Given the description of an element on the screen output the (x, y) to click on. 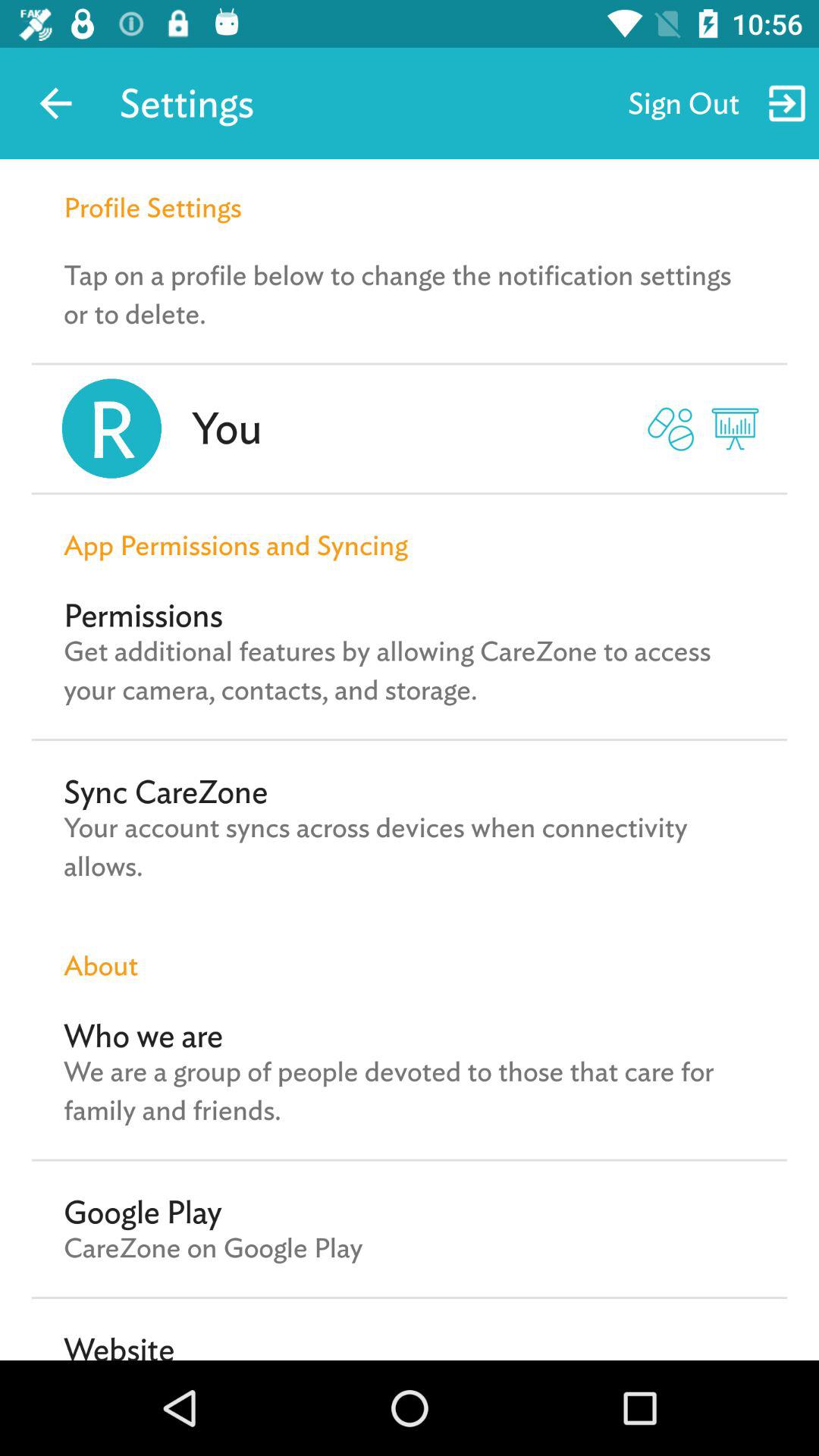
select your account syncs (409, 847)
